Given the description of an element on the screen output the (x, y) to click on. 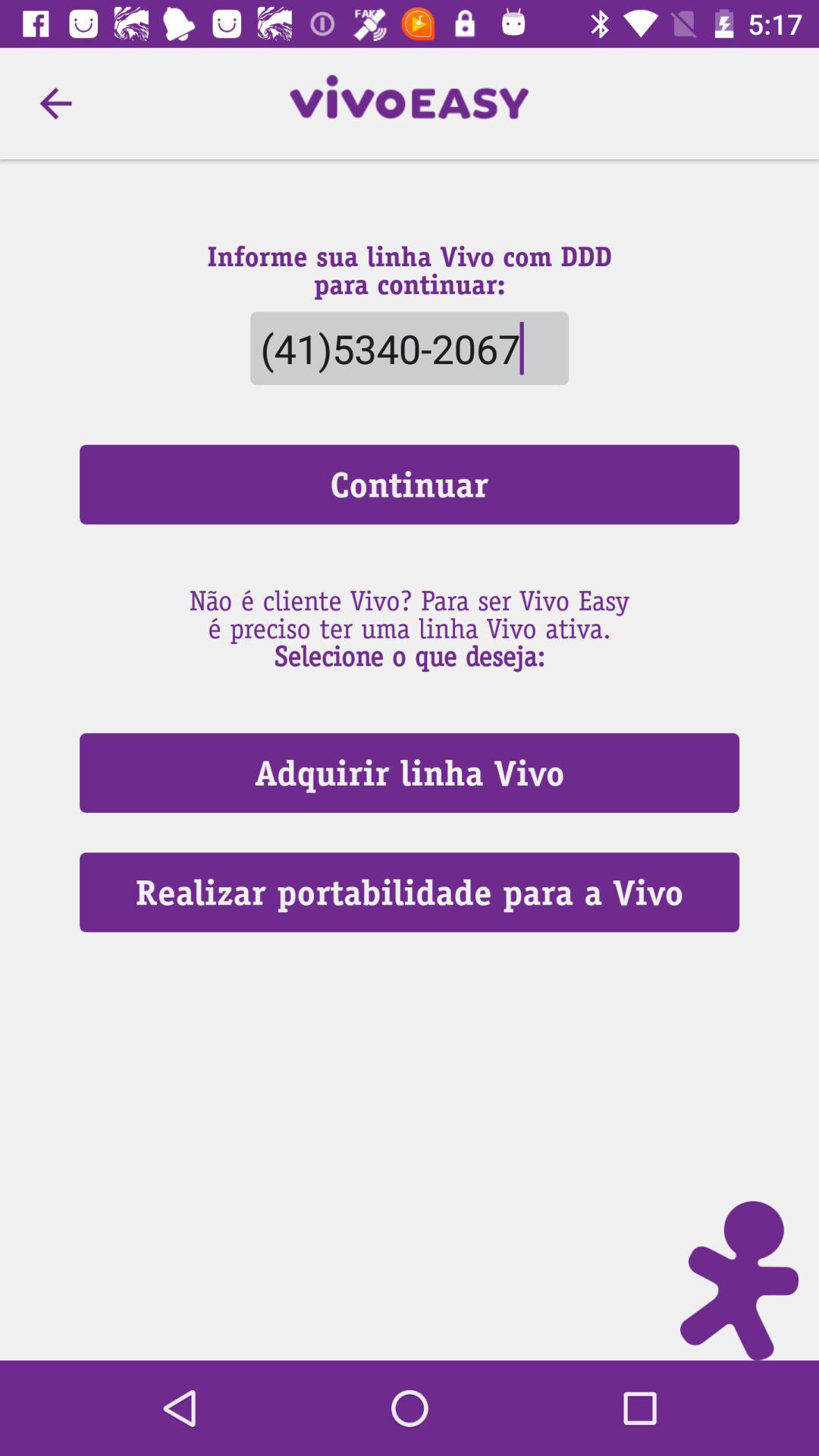
click the realizar portabilidade para item (409, 892)
